Given the description of an element on the screen output the (x, y) to click on. 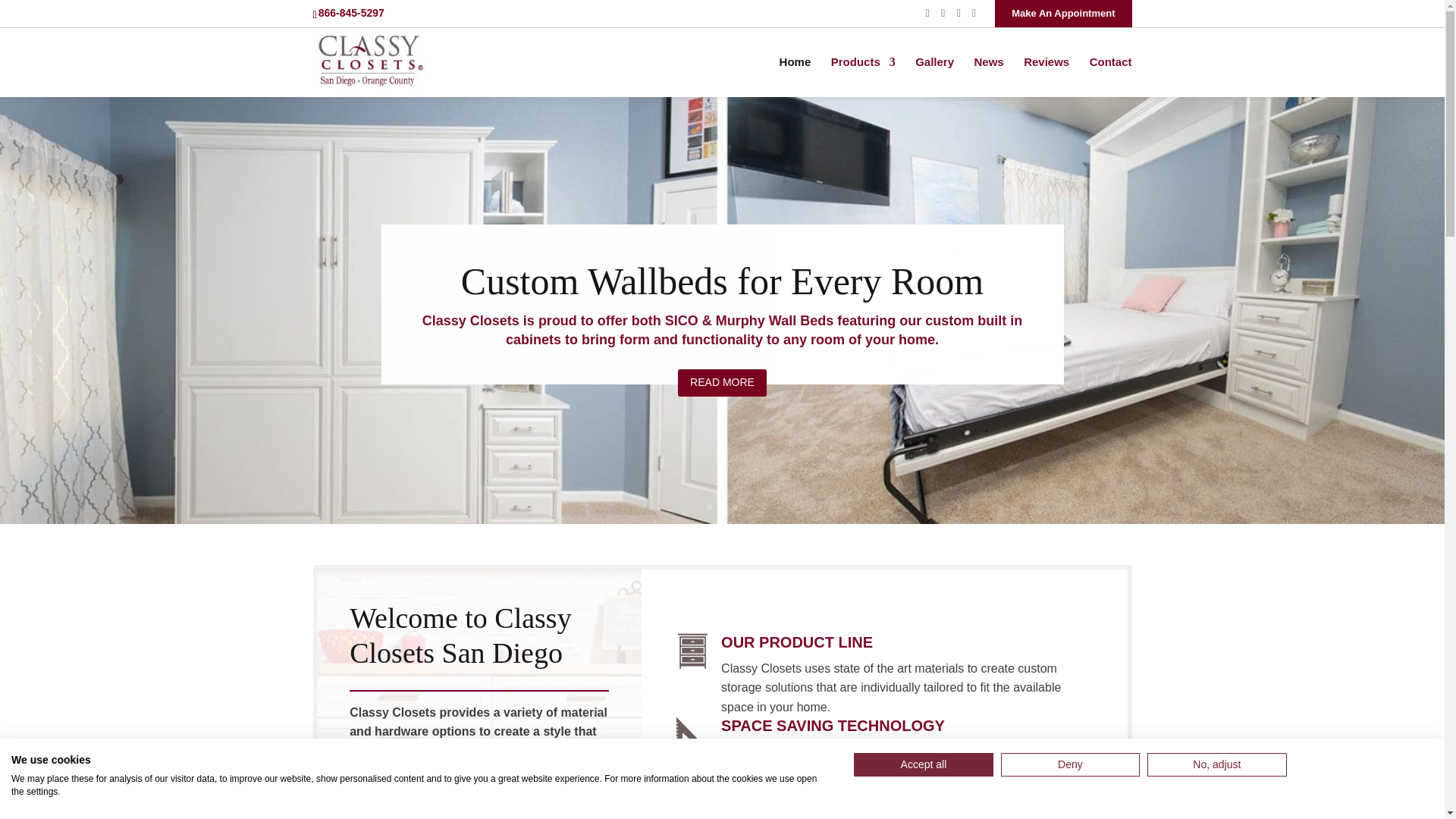
866-845-5297 (353, 13)
Make An Appointment (1062, 13)
Reviews (1045, 76)
Contact (1110, 76)
Products (863, 76)
Gallery (934, 76)
